Given the description of an element on the screen output the (x, y) to click on. 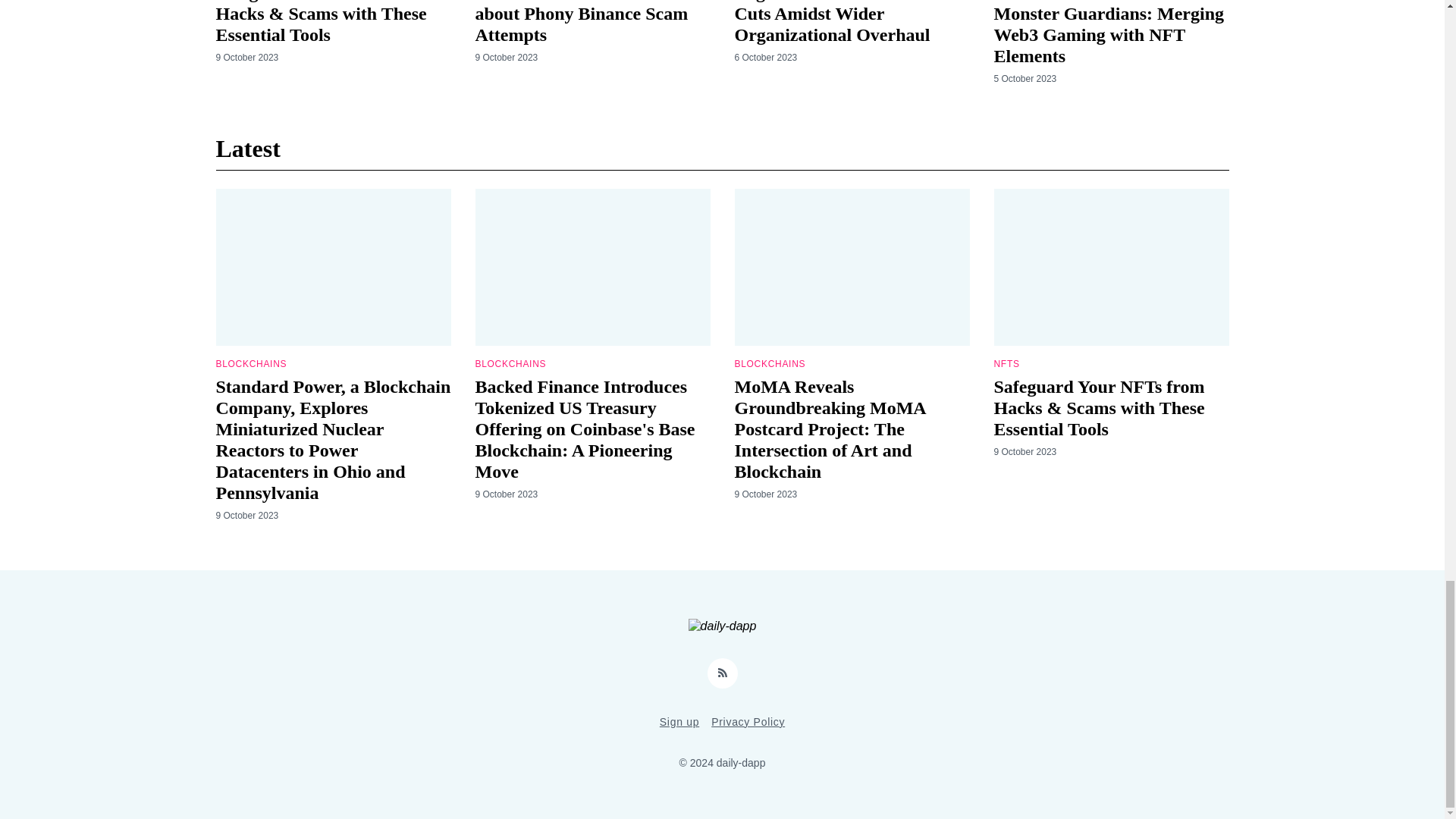
Binance CEO Raises Alarm about Phony Binance Scam Attempts (581, 22)
